Given the description of an element on the screen output the (x, y) to click on. 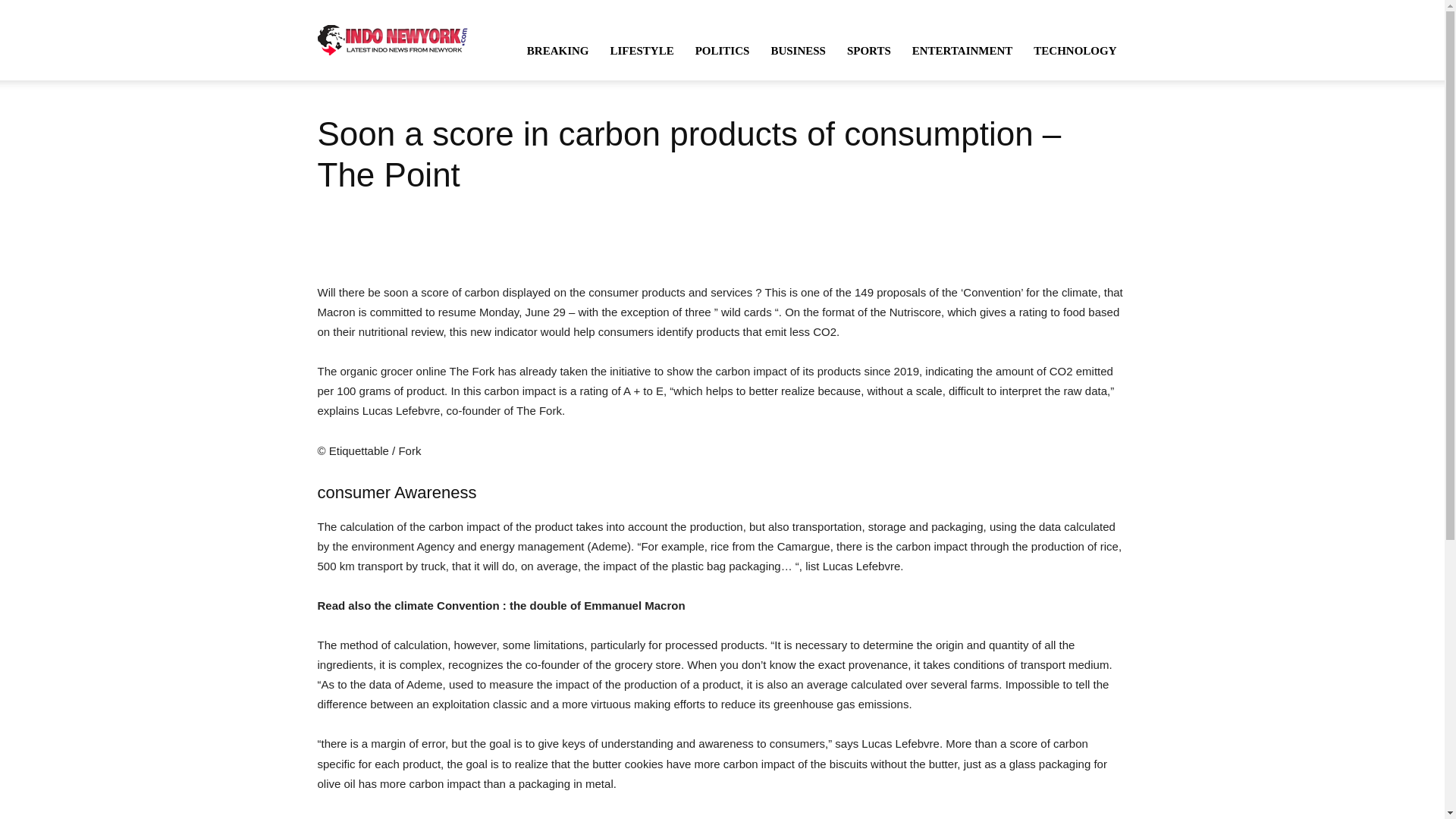
LIFESTYLE (641, 50)
ENTERTAINMENT (962, 50)
Indo Newyork (392, 39)
BUSINESS (797, 50)
SPORTS (868, 50)
TECHNOLOGY (1074, 50)
BREAKING (557, 50)
POLITICS (722, 50)
